Given the description of an element on the screen output the (x, y) to click on. 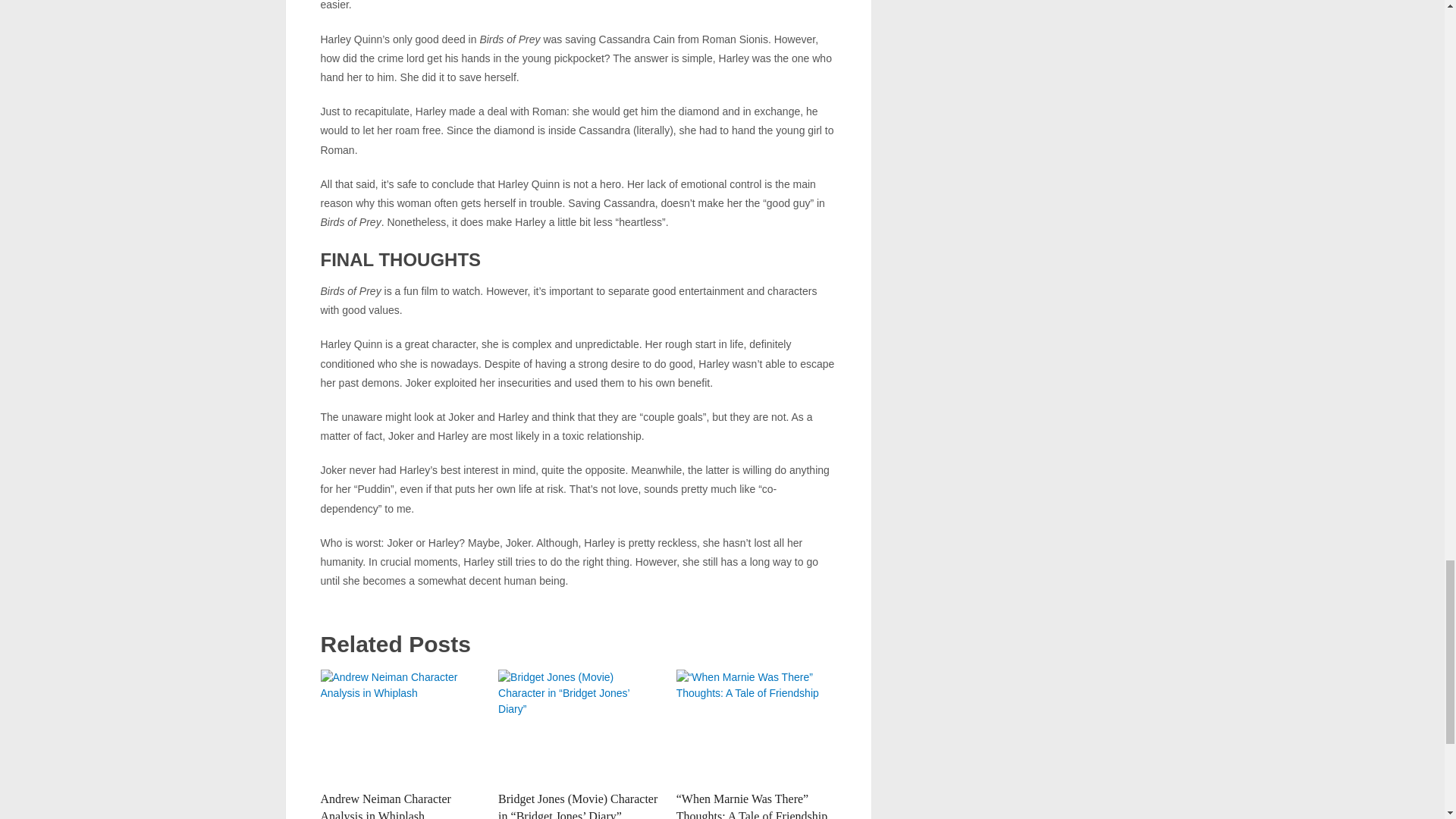
Andrew Neiman Character Analysis in Whiplash (384, 805)
Andrew Neiman Character Analysis in Whiplash (400, 725)
Andrew Neiman Character Analysis in Whiplash (384, 805)
